Given the description of an element on the screen output the (x, y) to click on. 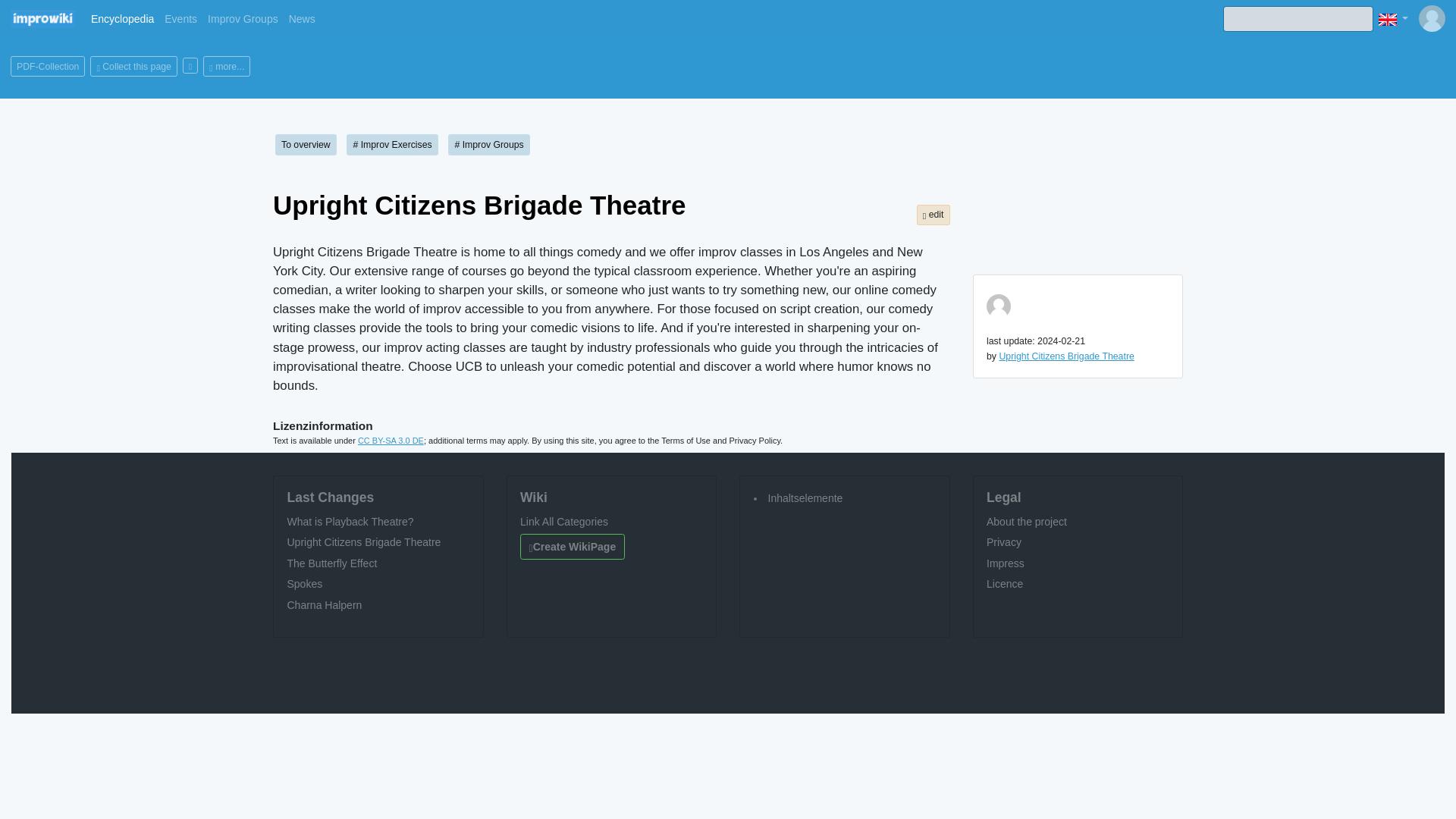
english version (1387, 19)
CC BY-SA 3.0 DE (390, 440)
Improv Groups (242, 18)
Charna Halpern (323, 604)
more... (226, 66)
What is Playback Theatre? (349, 521)
Collect this page (133, 66)
Spokes (303, 583)
The Butterfly Effect (331, 563)
improv theater and improv games (42, 17)
